Given the description of an element on the screen output the (x, y) to click on. 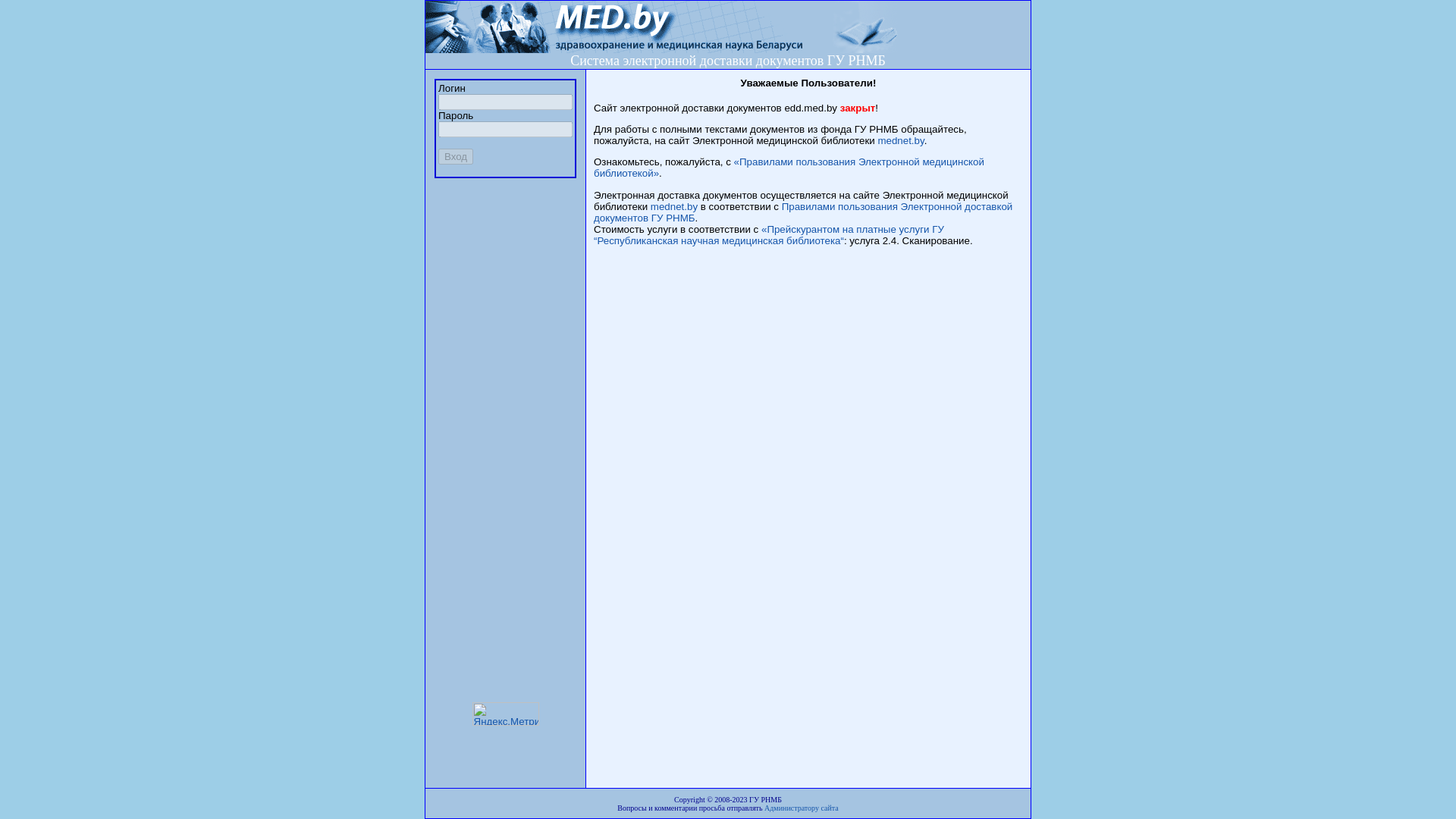
mednet.by Element type: text (900, 140)
mednet.by Element type: text (673, 206)
